Given the description of an element on the screen output the (x, y) to click on. 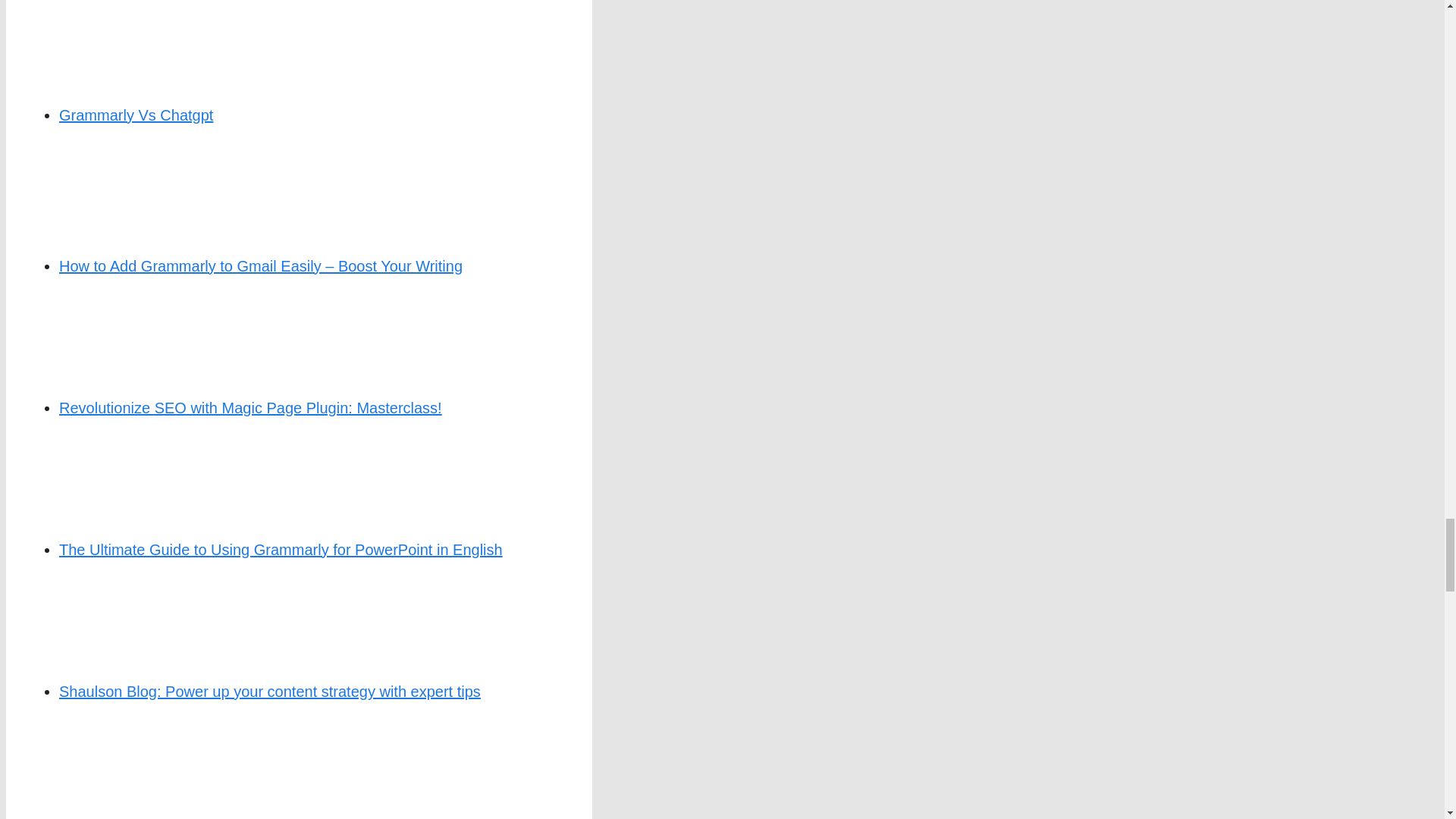
Revolutionize SEO with Magic Page Plugin: Masterclass! (250, 407)
Grammarly Vs Chatgpt (135, 115)
